Given the description of an element on the screen output the (x, y) to click on. 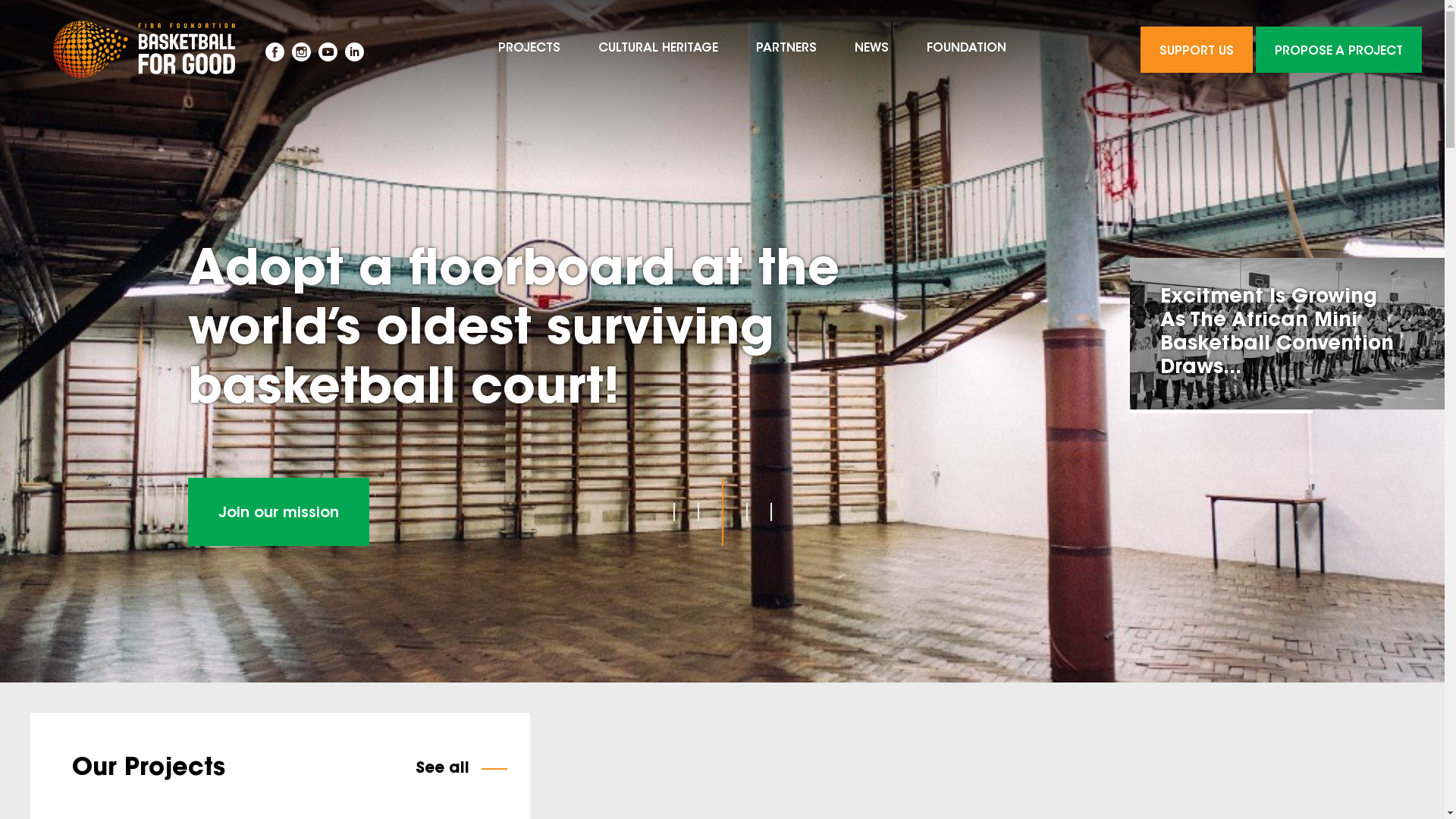
NEWS Element type: text (871, 49)
4 Element type: text (746, 511)
CULTURAL HERITAGE Element type: text (658, 49)
SUPPORT US Element type: text (1196, 48)
5 Element type: text (770, 511)
See all Element type: text (461, 768)
FOUNDATION Element type: text (966, 49)
3 Element type: text (722, 511)
PROJECTS Element type: text (529, 49)
PROPOSE A PROJECT Element type: text (1338, 48)
1 Element type: text (673, 511)
Join our mission Element type: text (278, 511)
PARTNERS Element type: text (786, 49)
2 Element type: text (698, 511)
Next Element type: text (1286, 333)
